Given the description of an element on the screen output the (x, y) to click on. 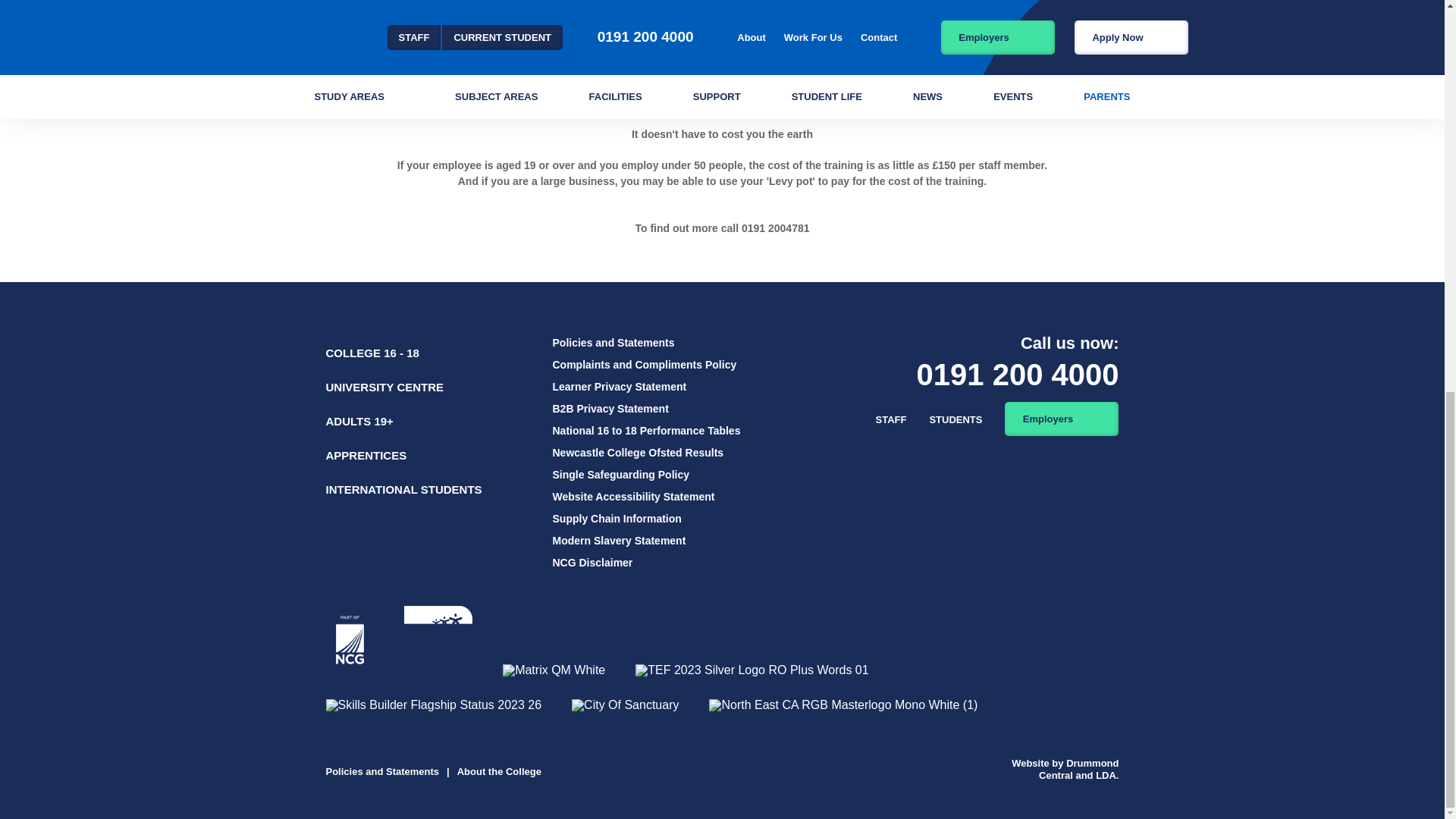
Learner Privacy Statement (618, 386)
UNIVERSITY CENTRE (385, 386)
B2B Privacy Statement (609, 408)
Single Safeguarding Policy (619, 474)
INTERNATIONAL STUDENTS (403, 489)
Policies and Statements (612, 342)
COLLEGE 16 - 18 (372, 352)
Newcastle College Ofsted Results (637, 452)
APPRENTICES (366, 454)
National 16 to 18 Performance Tables (645, 430)
